Given the description of an element on the screen output the (x, y) to click on. 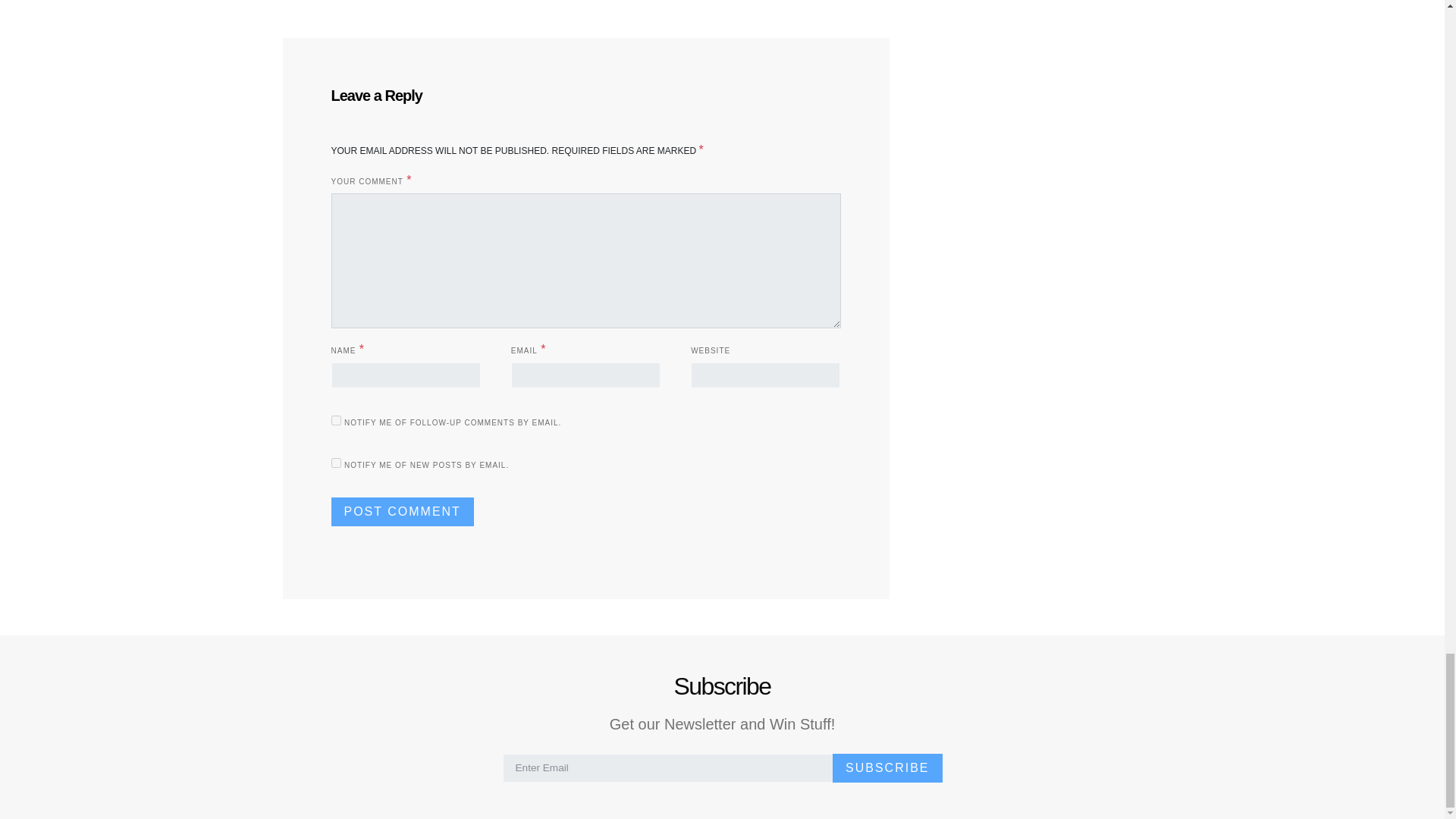
Post Comment (401, 511)
subscribe (335, 462)
subscribe (335, 420)
